Given the description of an element on the screen output the (x, y) to click on. 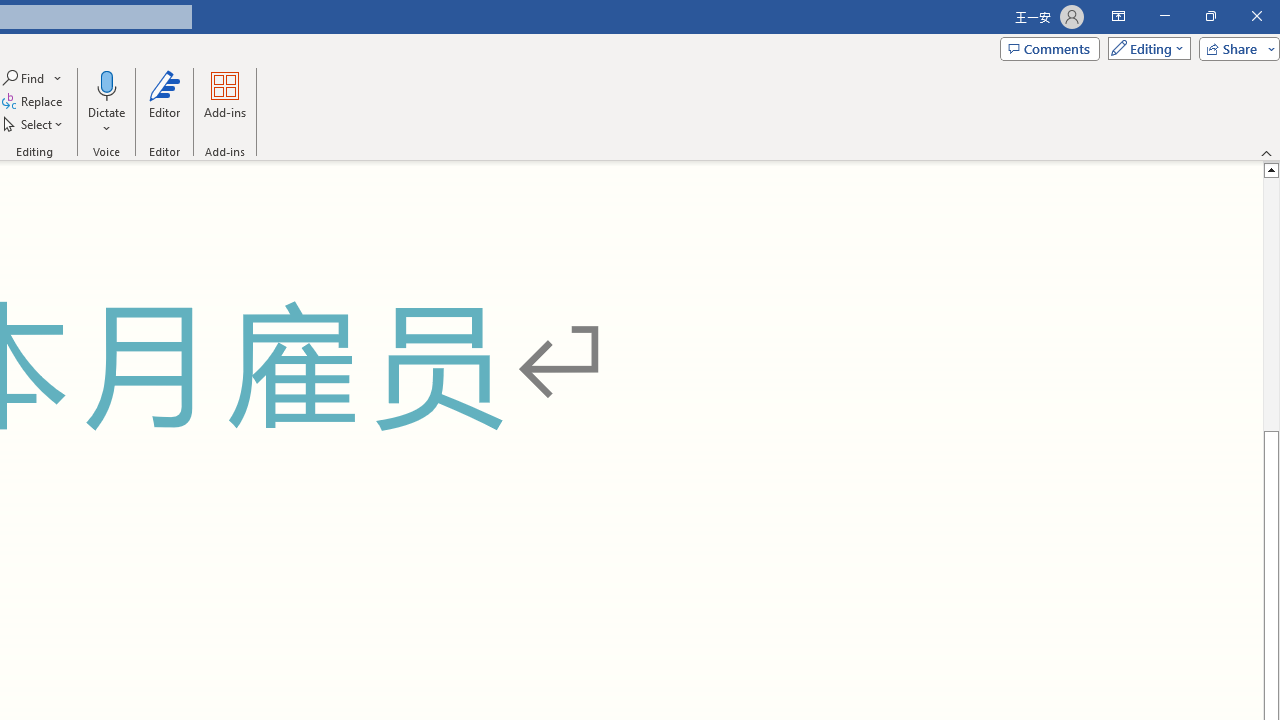
Page up (1271, 304)
Editor (164, 102)
Ribbon Display Options (1118, 16)
Comments (1049, 48)
Editing (1144, 47)
Dictate (106, 102)
Restore Down (1210, 16)
Line up (1271, 169)
Share (1235, 48)
Collapse the Ribbon (1267, 152)
Dictate (106, 84)
